Given the description of an element on the screen output the (x, y) to click on. 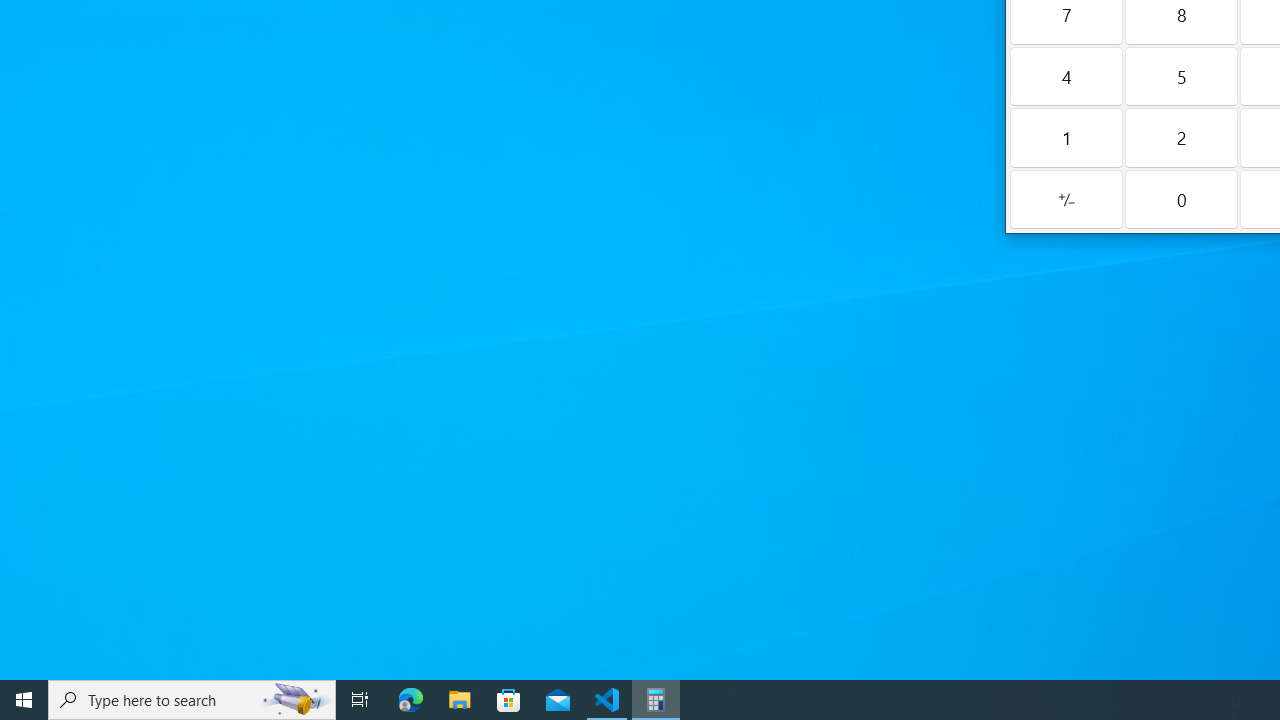
Task View (359, 699)
